Given the description of an element on the screen output the (x, y) to click on. 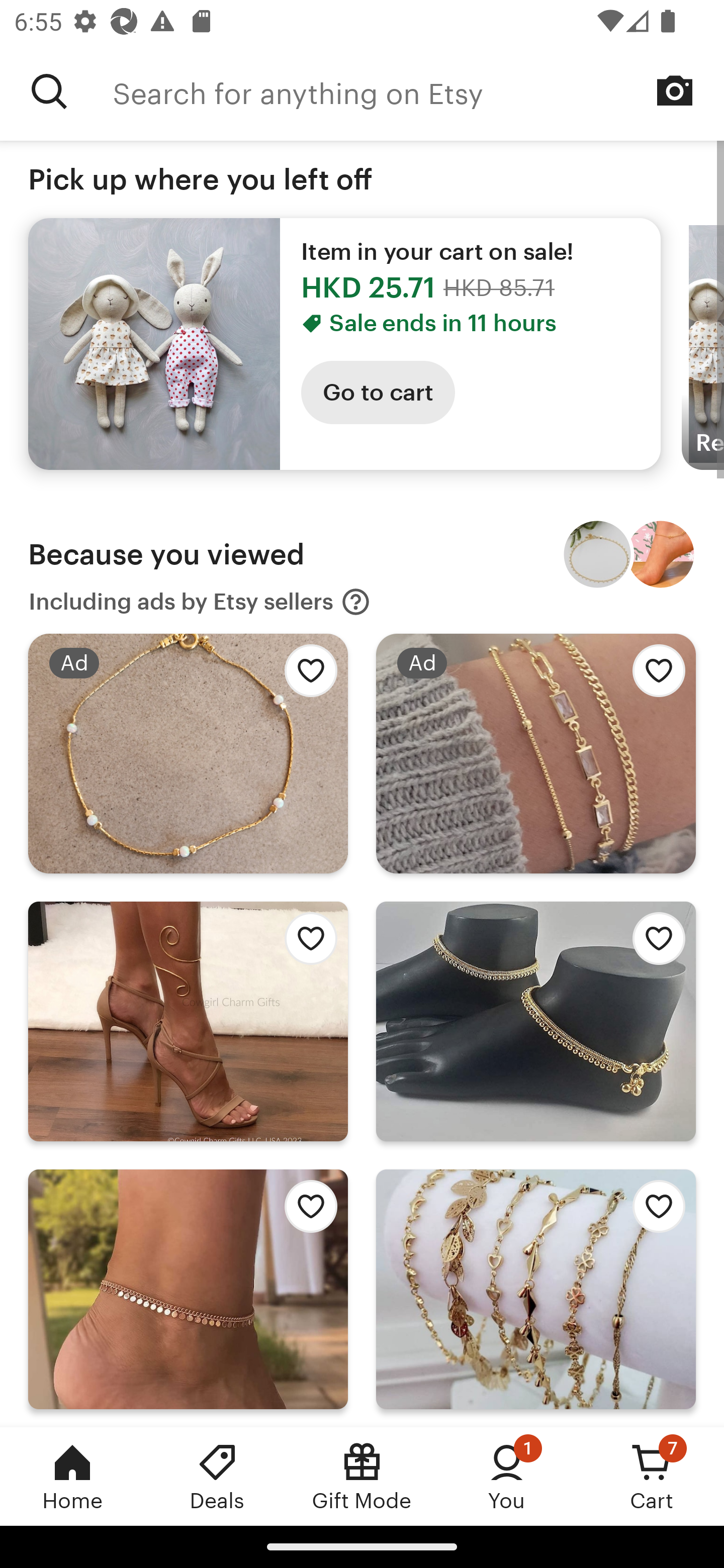
Search for anything on Etsy (49, 91)
Search by image (674, 90)
Search for anything on Etsy (418, 91)
Including ads by Etsy sellers (199, 601)
Deals (216, 1475)
Gift Mode (361, 1475)
You, 1 new notification You (506, 1475)
Cart, 7 new notifications Cart (651, 1475)
